Given the description of an element on the screen output the (x, y) to click on. 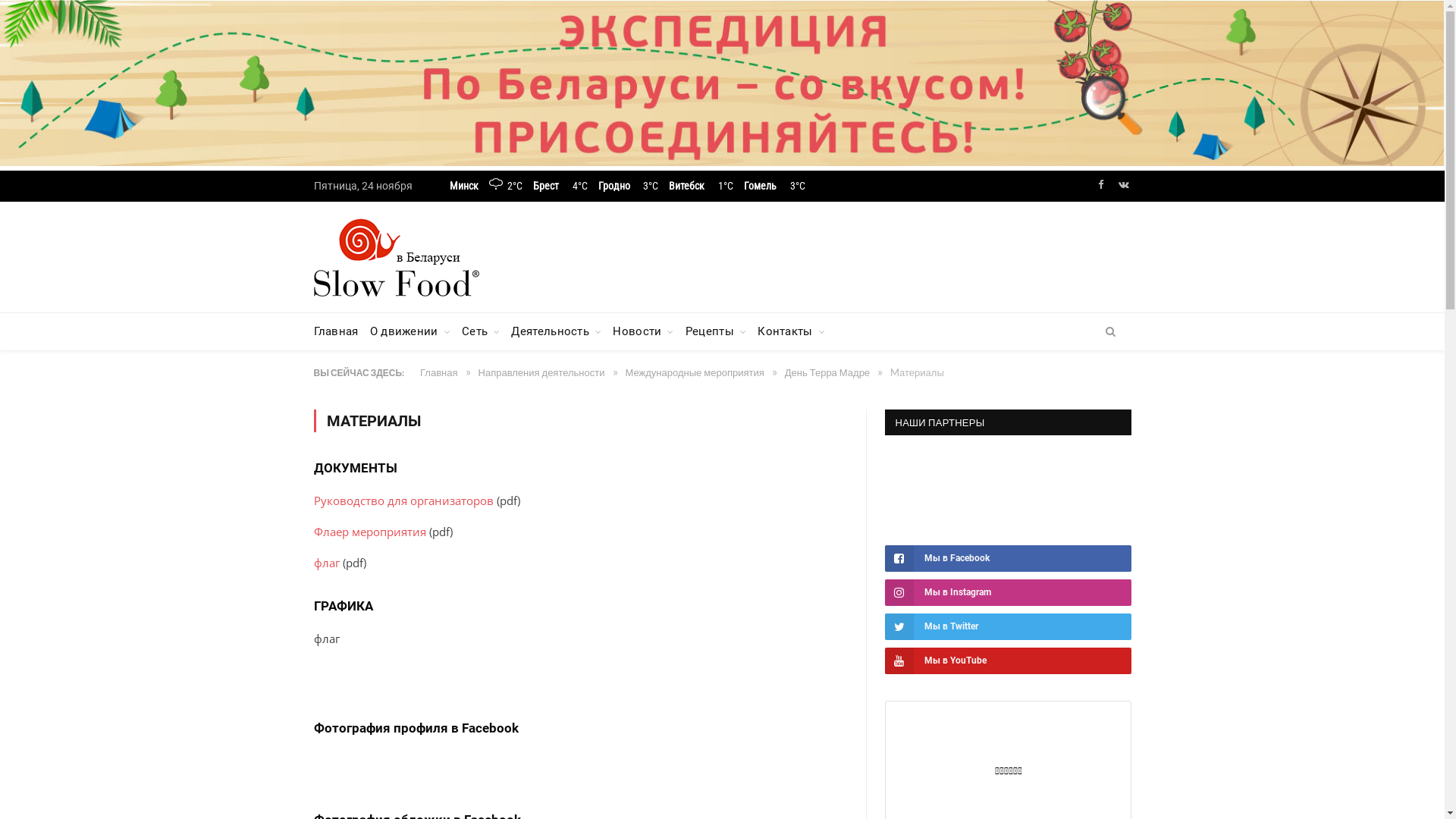
Facebook Element type: text (1100, 184)
180x180profilo Element type: hover (368, 760)
VK Element type: text (1123, 184)
bandiera_a3 Element type: hover (359, 668)
